Given the description of an element on the screen output the (x, y) to click on. 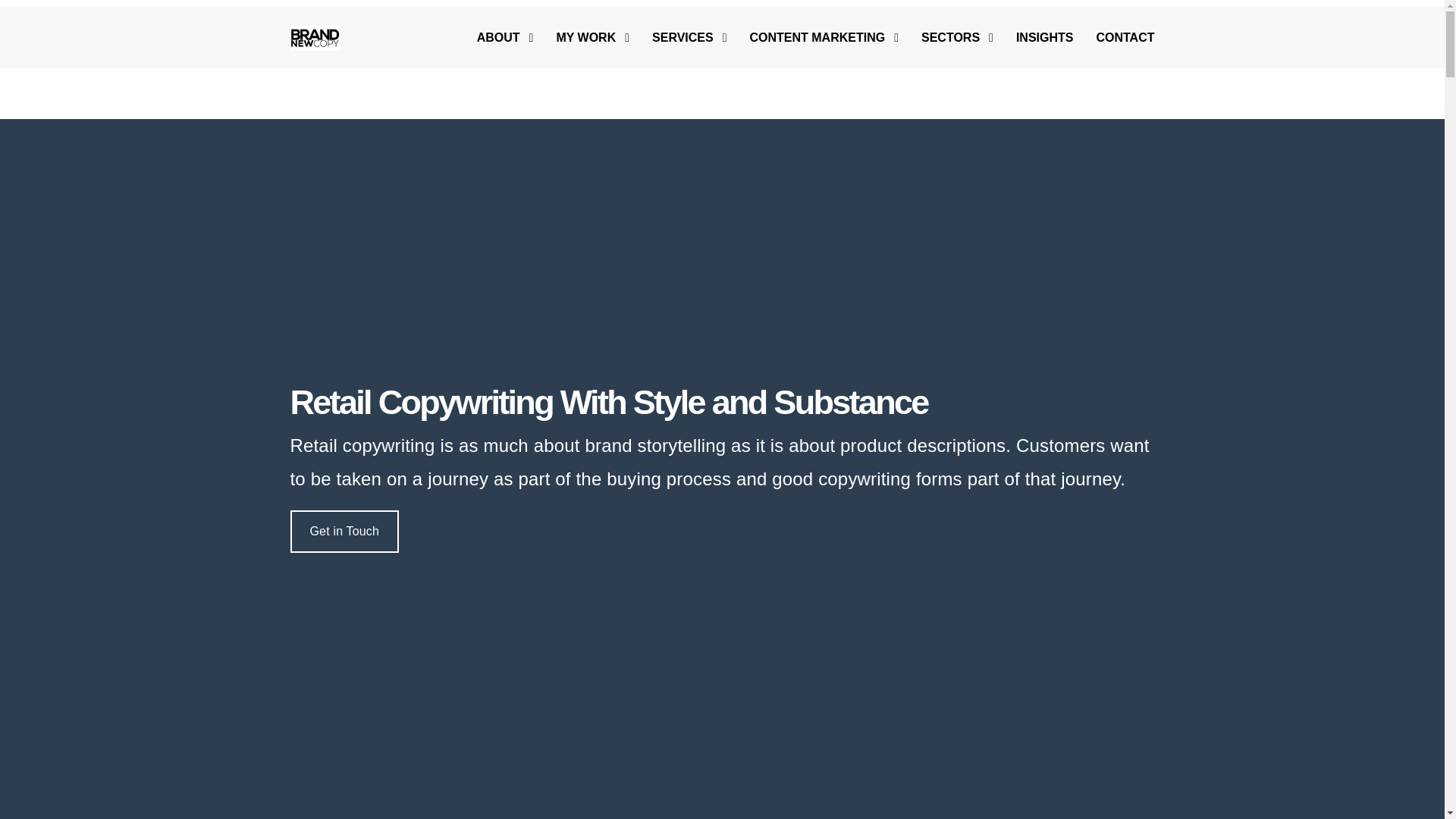
CONTENT MARKETING (824, 37)
ABOUT (510, 37)
Retail Copywriting With Style and Substance (721, 401)
SERVICES (689, 37)
INSIGHTS (1044, 37)
SECTORS (957, 37)
CONTACT (1119, 37)
Get in Touch (343, 531)
MY WORK (592, 37)
